Given the description of an element on the screen output the (x, y) to click on. 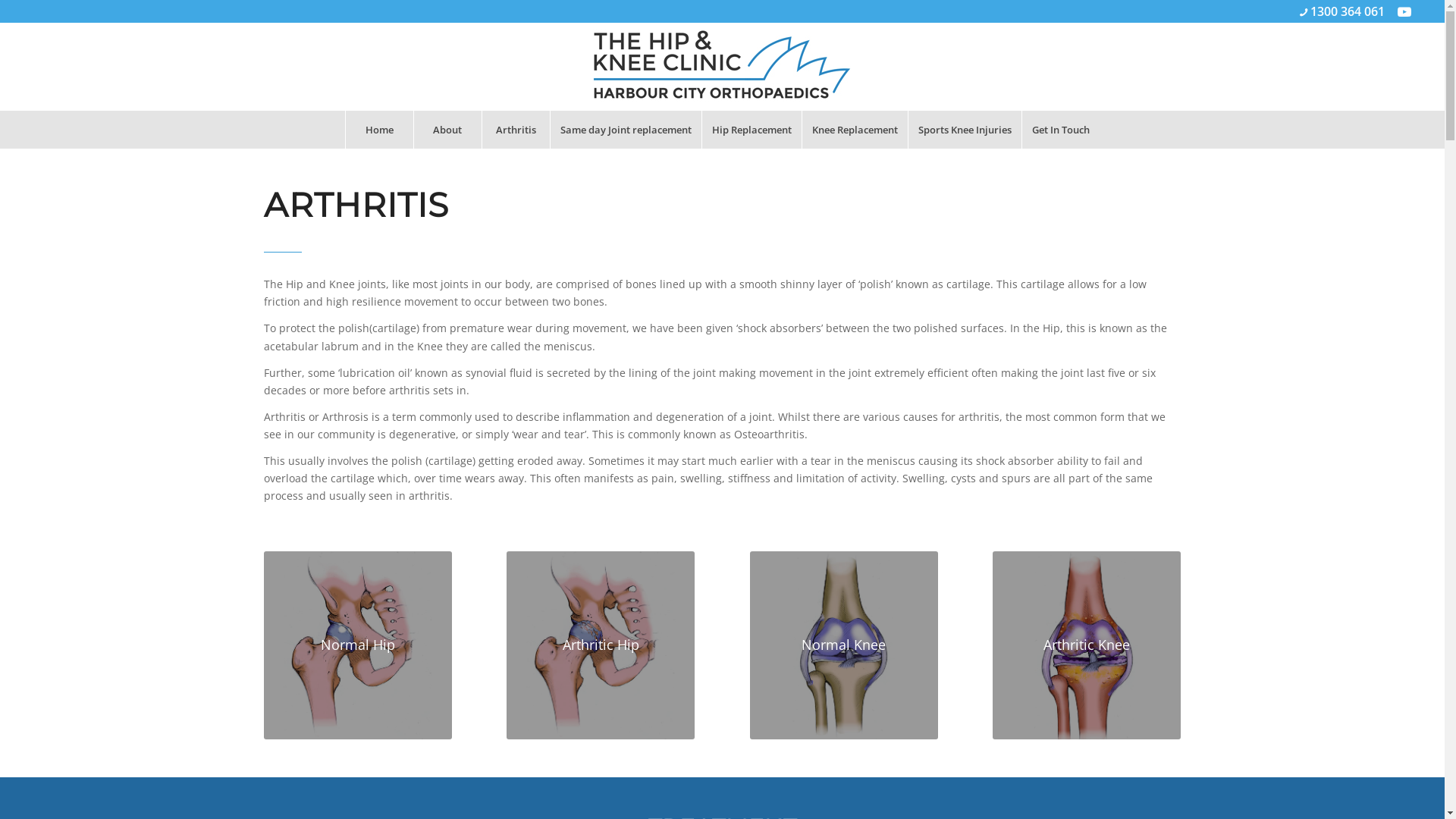
thkc-logo-new Element type: hover (721, 66)
Arthritis Element type: text (515, 129)
Hip Replacement Element type: text (751, 129)
arthritis - arthritic hip Element type: hover (1086, 645)
Knee Replacement Element type: text (854, 129)
arthritis - normal hip Element type: hover (357, 645)
Same day Joint replacement Element type: text (625, 129)
Get In Touch Element type: text (1060, 129)
Arthritic Hip Element type: text (600, 645)
Youtube Element type: hover (1404, 11)
Normal Knee Element type: text (843, 645)
arthritis - arthritic hip Element type: hover (600, 645)
Arthritic Knee Element type: text (1086, 645)
arthritis - normal knee Element type: hover (843, 645)
Normal Hip Element type: text (357, 645)
About Element type: text (447, 129)
Sports Knee Injuries Element type: text (964, 129)
Home Element type: text (379, 129)
